Given the description of an element on the screen output the (x, y) to click on. 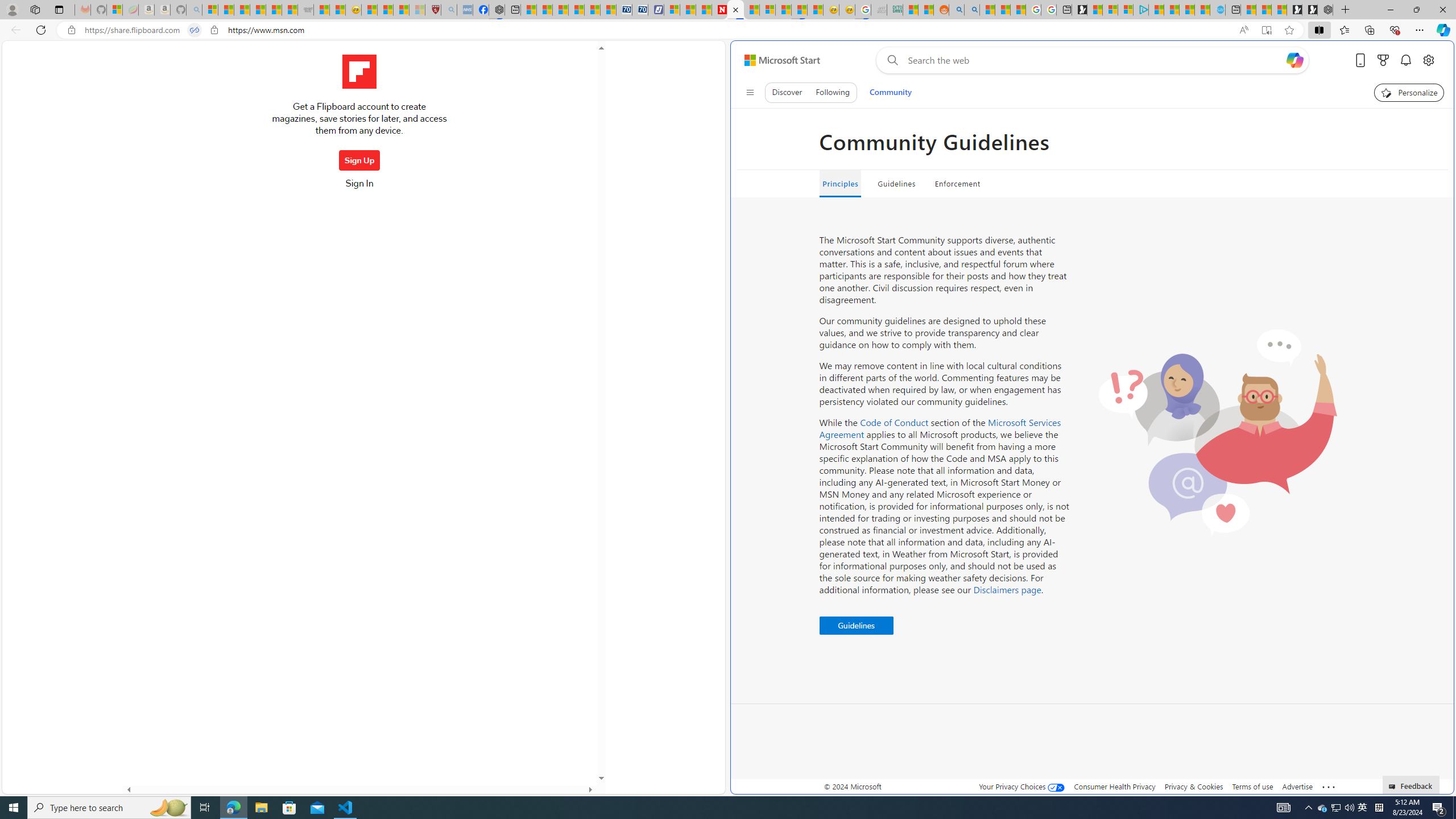
Sign Up (359, 159)
Skip to footer (775, 59)
Tabs in split screen (194, 29)
Microsoft Start Gaming (1079, 9)
Guidelines (895, 183)
Disclaimers page (1006, 589)
